Given the description of an element on the screen output the (x, y) to click on. 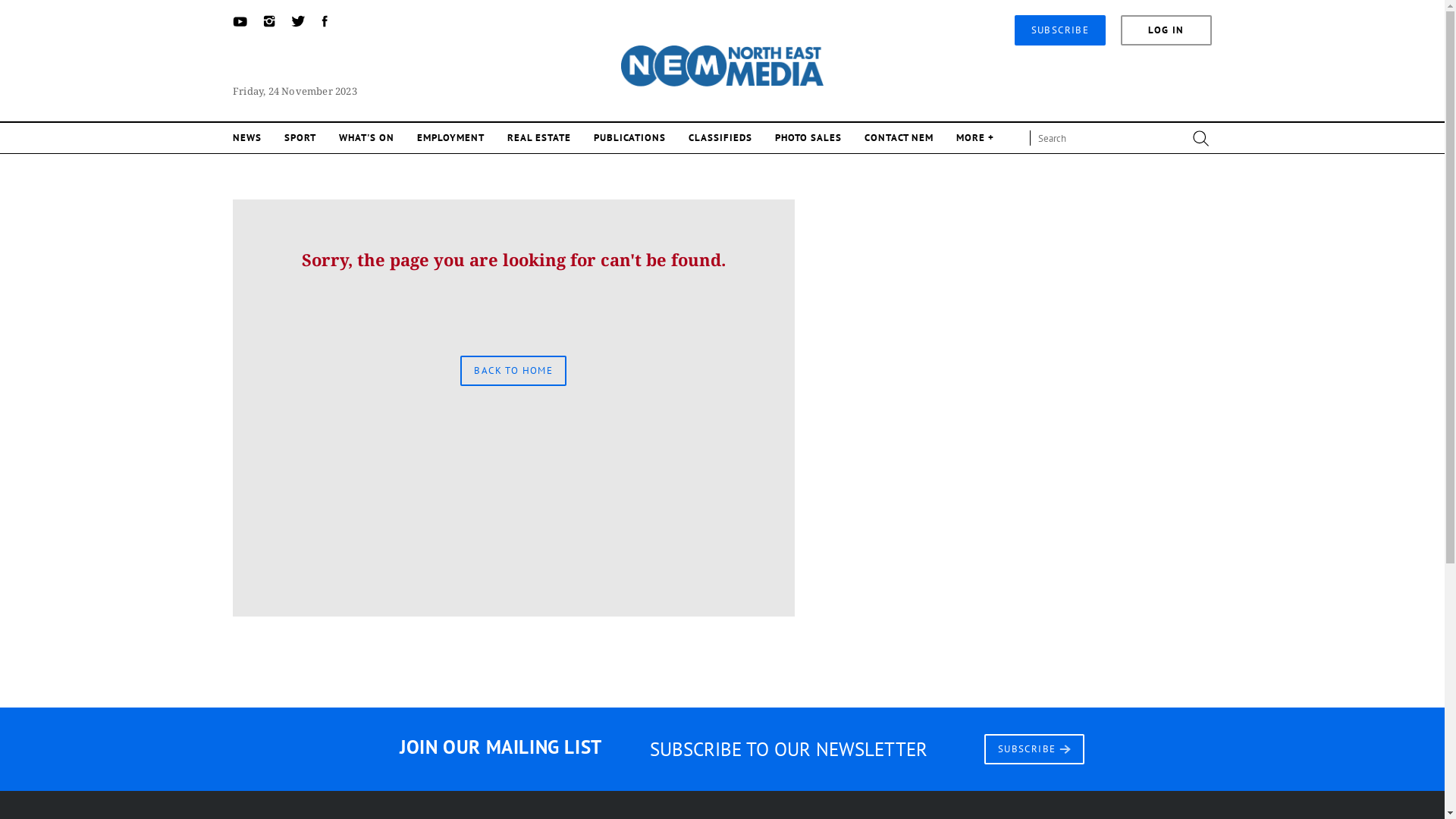
MORE + Element type: text (975, 137)
BACK TO HOME Element type: text (513, 370)
PUBLICATIONS Element type: text (629, 137)
NEWS Element type: text (246, 137)
REAL ESTATE Element type: text (539, 137)
CLASSIFIEDS Element type: text (720, 137)
SUBSCRIBE Element type: text (1034, 747)
PHOTO SALES Element type: text (808, 137)
WHAT'S ON Element type: text (366, 137)
EMPLOYMENT Element type: text (450, 137)
CONTACT NEM Element type: text (898, 137)
SPORT Element type: text (300, 137)
